Given the description of an element on the screen output the (x, y) to click on. 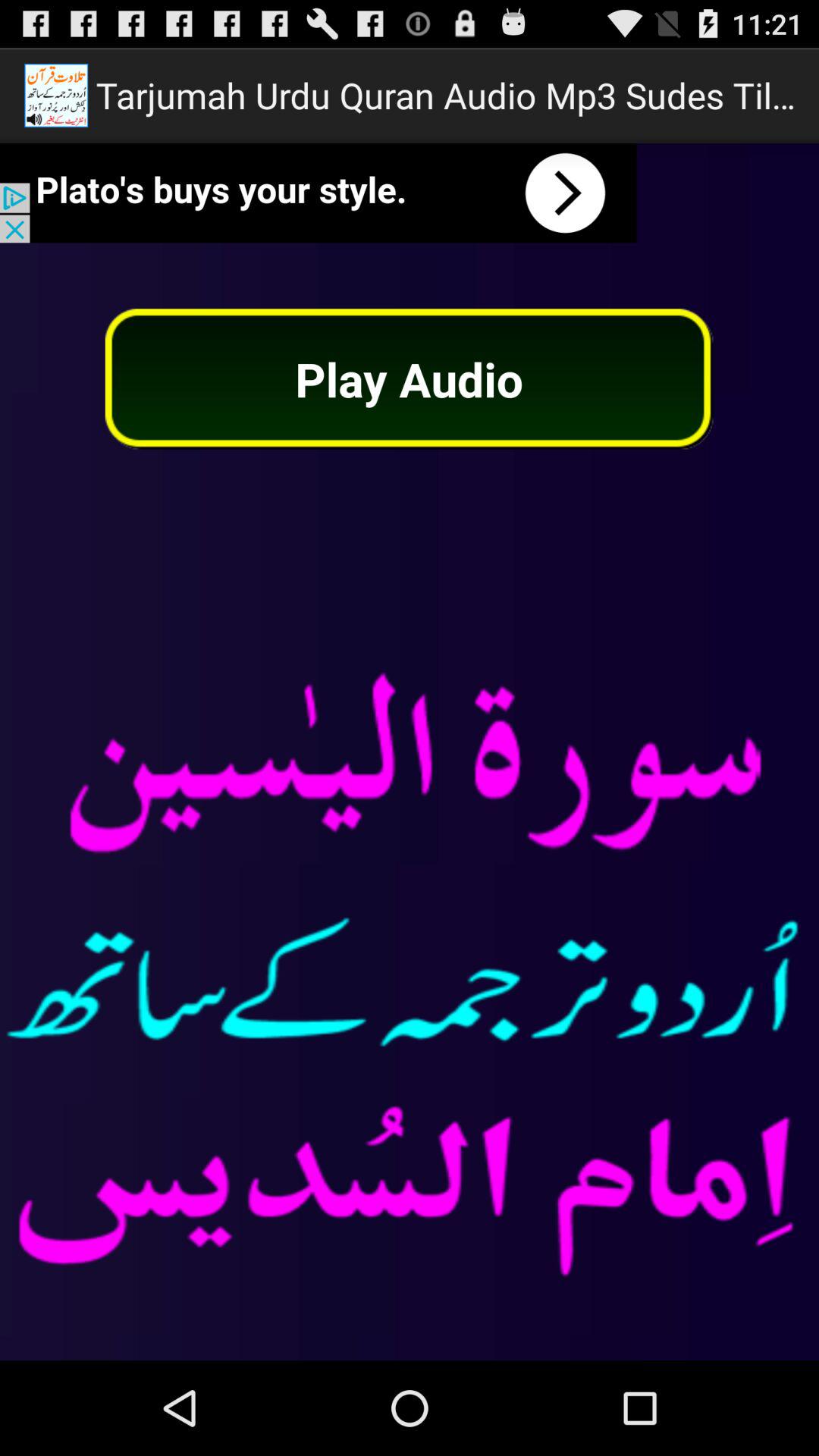
next (318, 192)
